Given the description of an element on the screen output the (x, y) to click on. 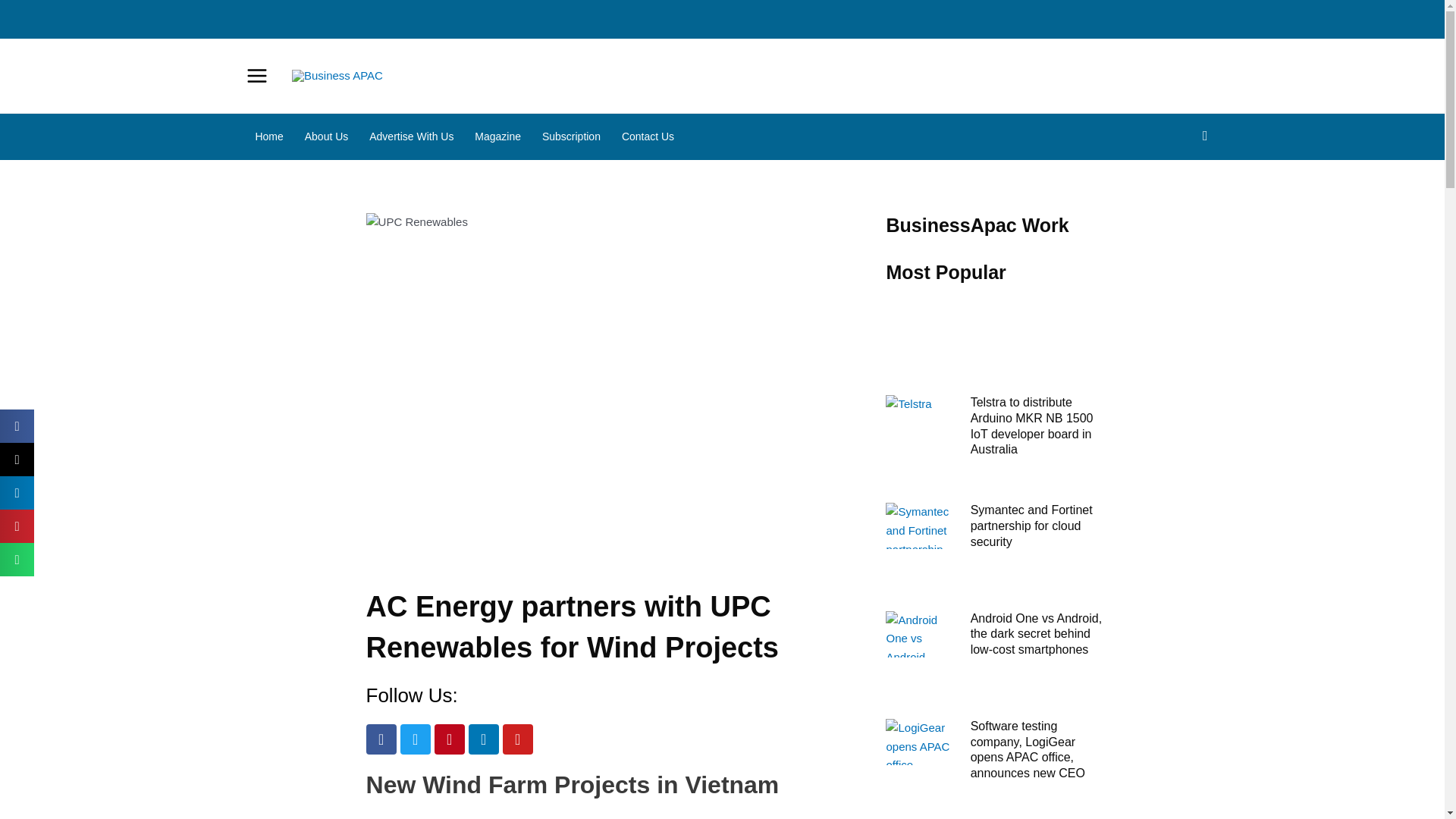
Youtube (517, 738)
About Us (326, 135)
Advertise With Us (411, 135)
Symantec and Fortinet partnership for cloud security (1032, 525)
Magazine (497, 135)
Pinterest (448, 738)
Subscription (571, 135)
Home (269, 135)
